Given the description of an element on the screen output the (x, y) to click on. 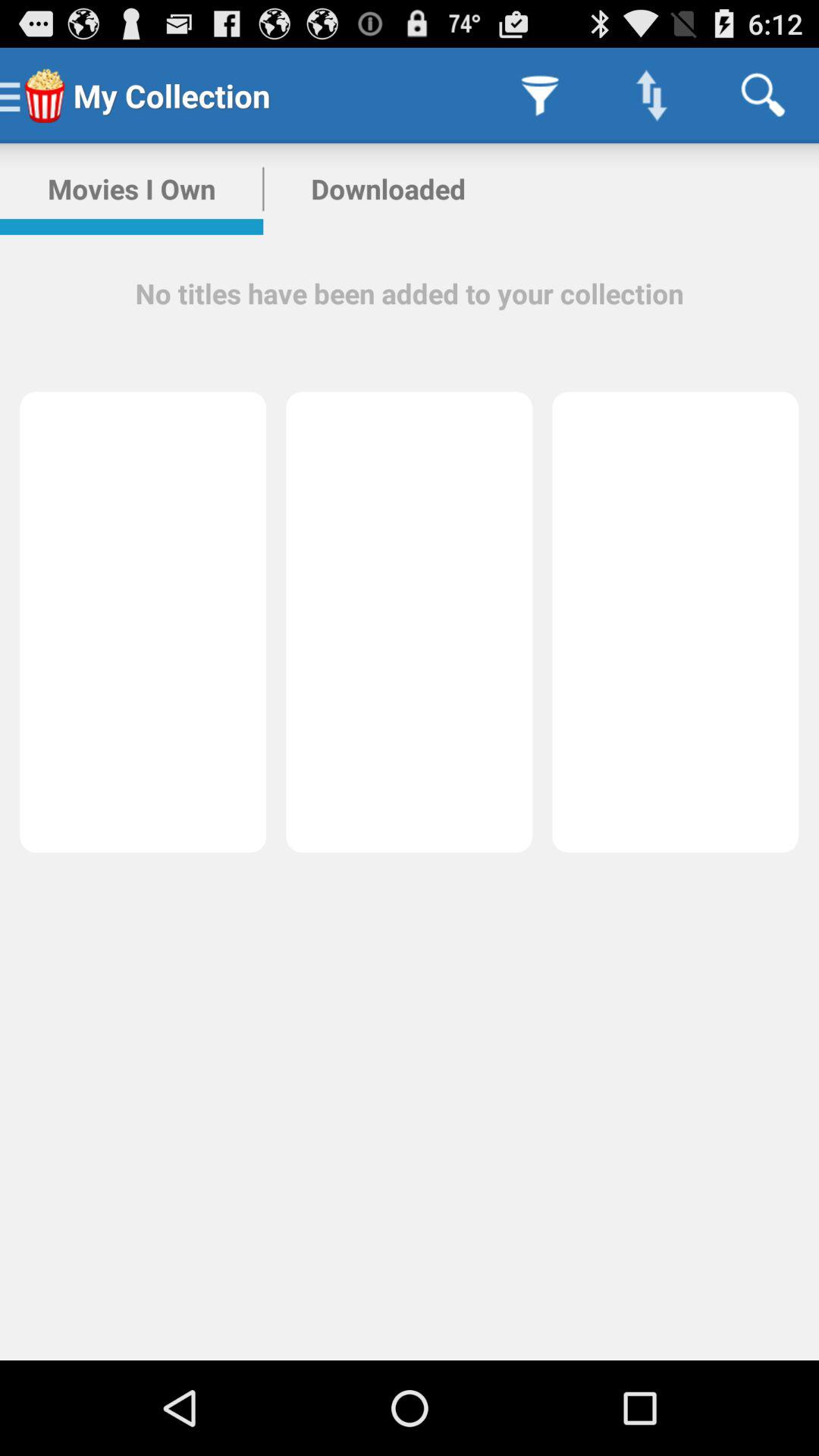
launch the item to the right of the my collection (540, 95)
